Given the description of an element on the screen output the (x, y) to click on. 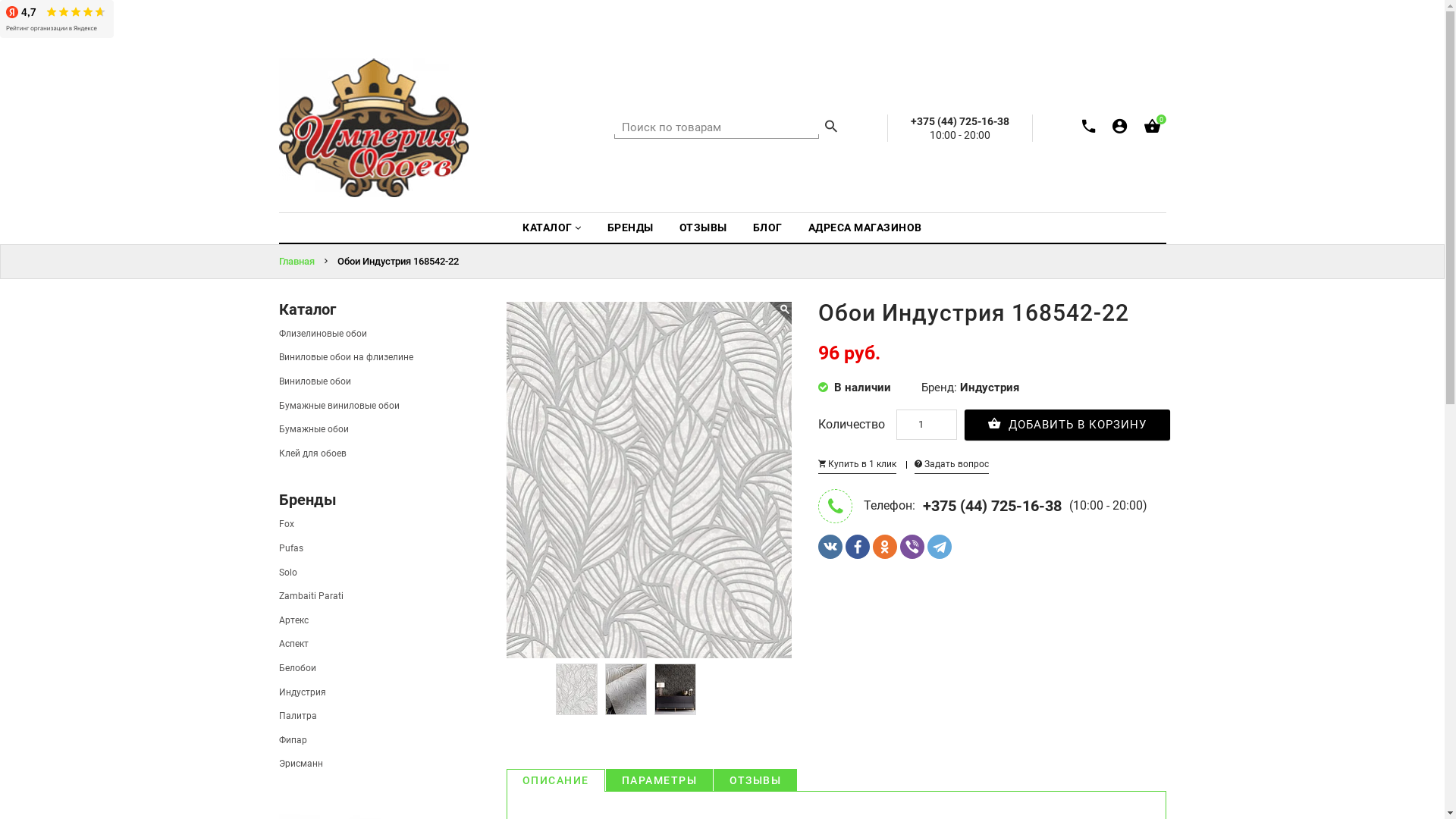
0 Element type: text (1151, 128)
Fox Element type: text (286, 523)
Viber Element type: hover (912, 546)
Telegram Element type: hover (939, 546)
Pufas Element type: text (291, 547)
Facebook Element type: hover (857, 546)
Zambaiti Parati Element type: text (311, 595)
Solo Element type: text (288, 572)
